Given the description of an element on the screen output the (x, y) to click on. 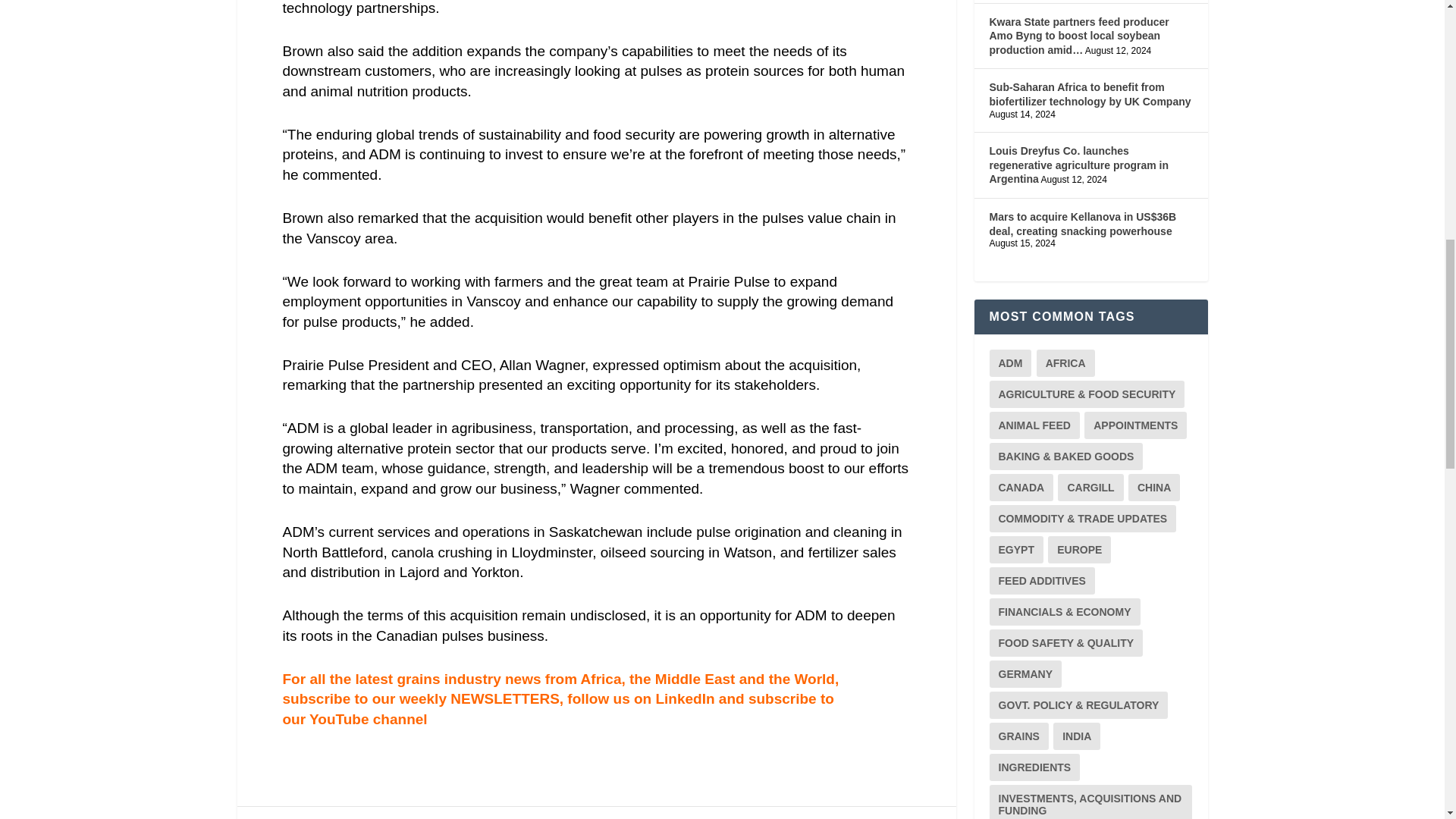
Africa (600, 678)
NEWSLETTERS (504, 698)
YouTube  (340, 719)
LinkedIn (684, 698)
